Given the description of an element on the screen output the (x, y) to click on. 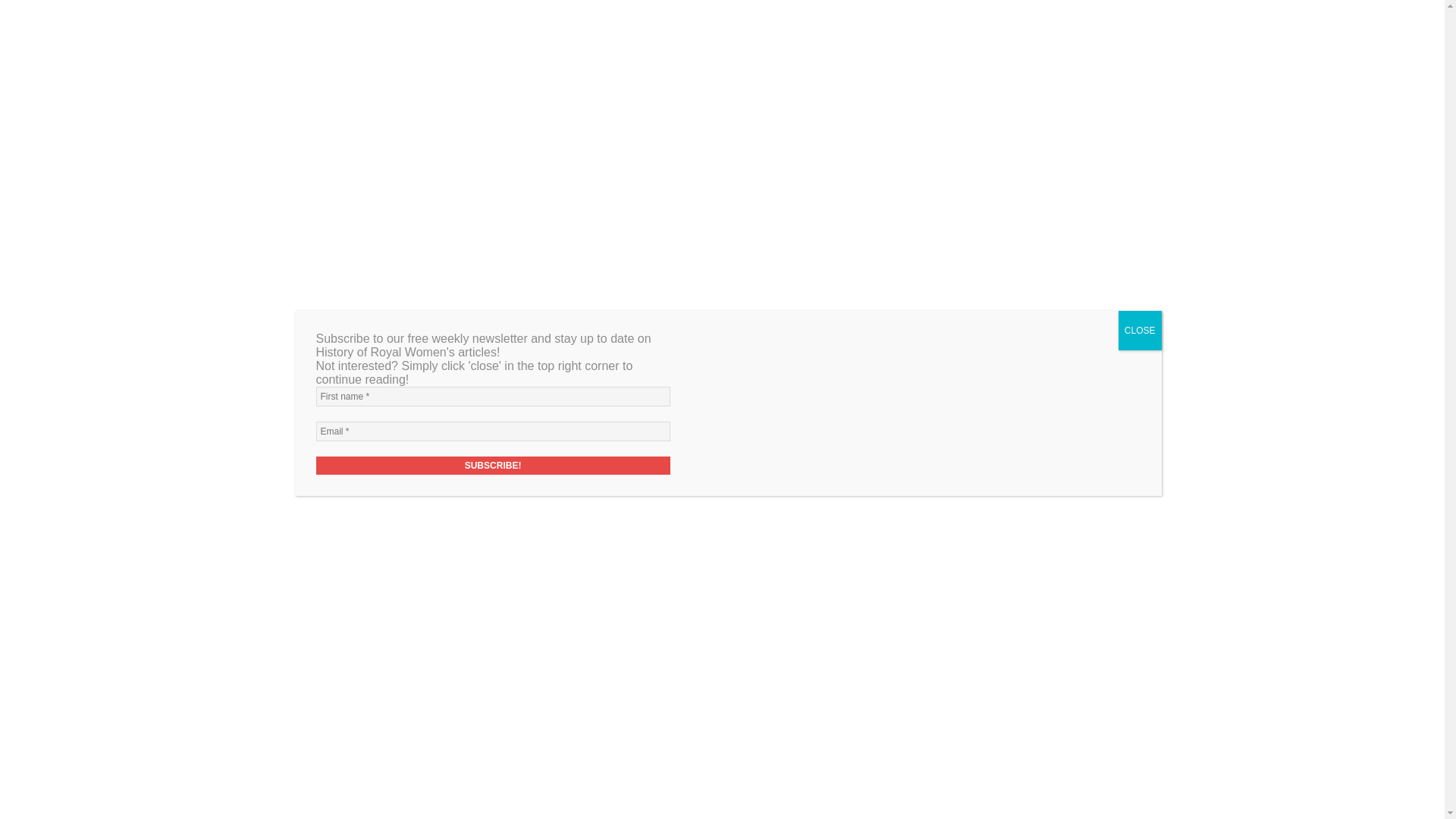
Subscribe! (988, 718)
Subscribe! (492, 465)
Advertisement (588, 743)
History of Royal Women (653, 218)
